Given the description of an element on the screen output the (x, y) to click on. 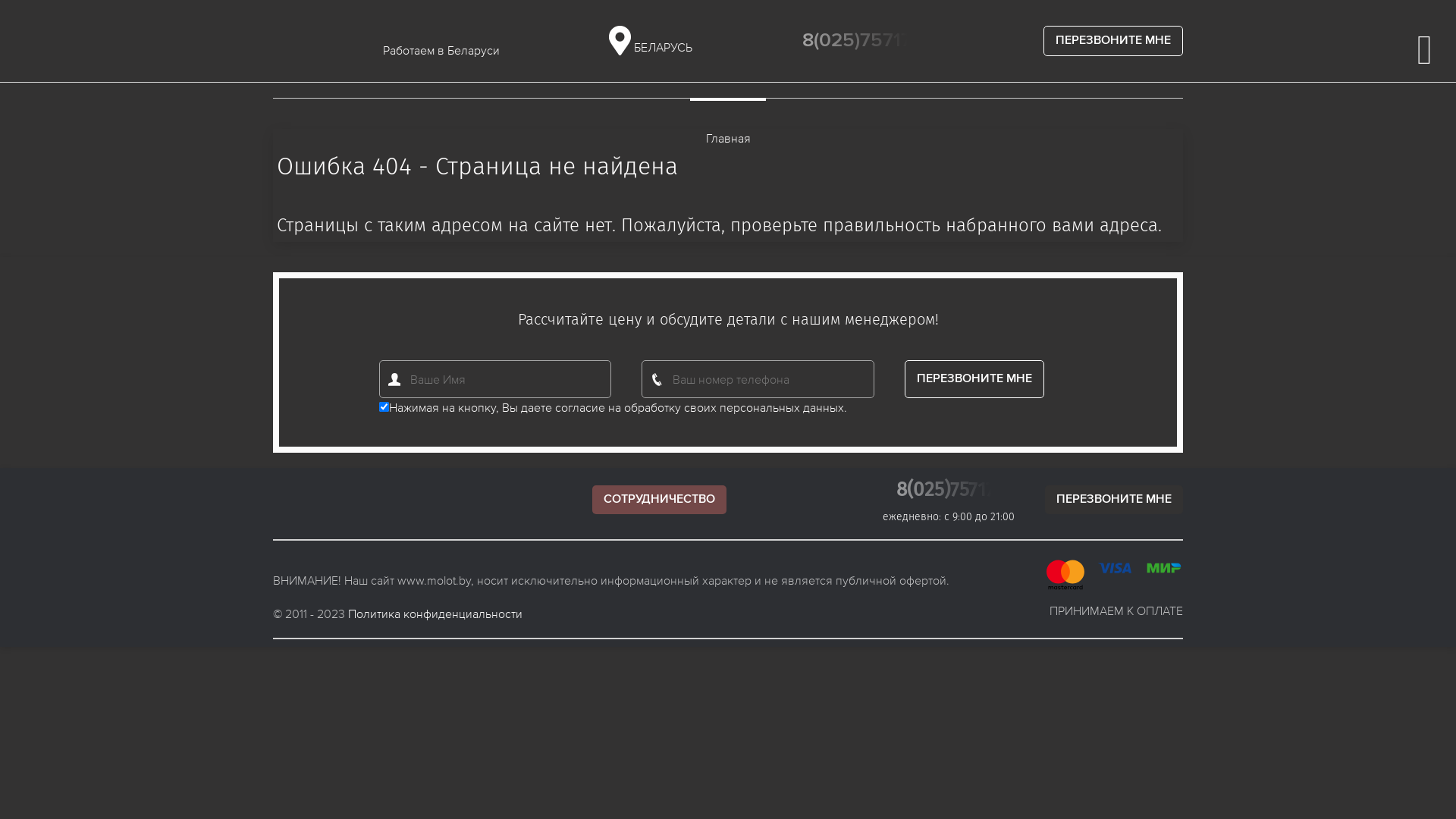
8(025)7571733 Element type: text (868, 40)
8(025)7571733 Element type: text (955, 489)
